Given the description of an element on the screen output the (x, y) to click on. 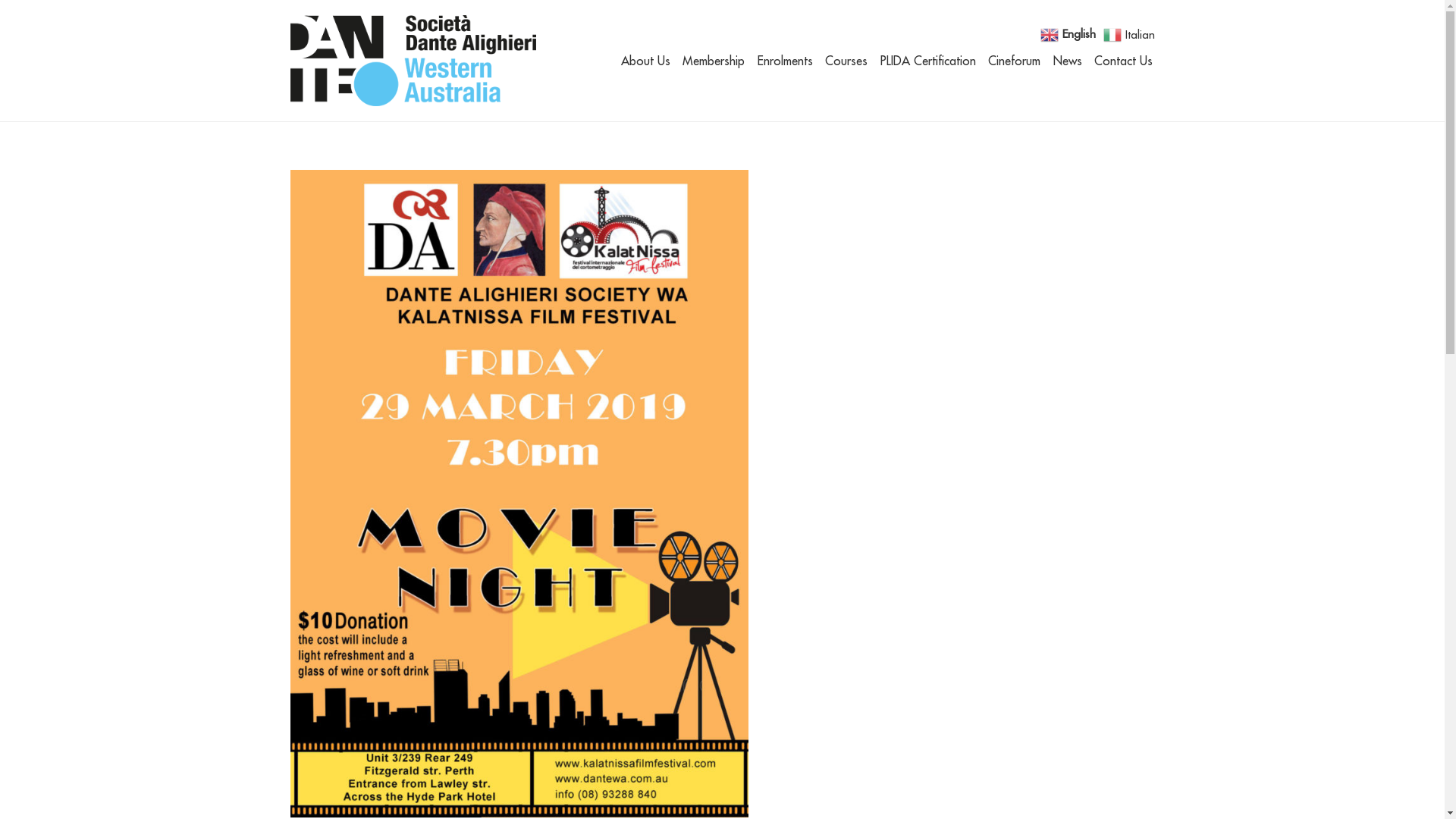
Italian Element type: text (1129, 32)
Membership Element type: text (713, 60)
News Element type: text (1067, 60)
Contact Us Element type: text (1123, 60)
About Us Element type: text (645, 60)
Cineforum Element type: text (1013, 60)
PLIDA Certification Element type: text (927, 60)
Enrolments Element type: text (785, 60)
English Element type: text (1069, 32)
Courses Element type: text (846, 60)
